Given the description of an element on the screen output the (x, y) to click on. 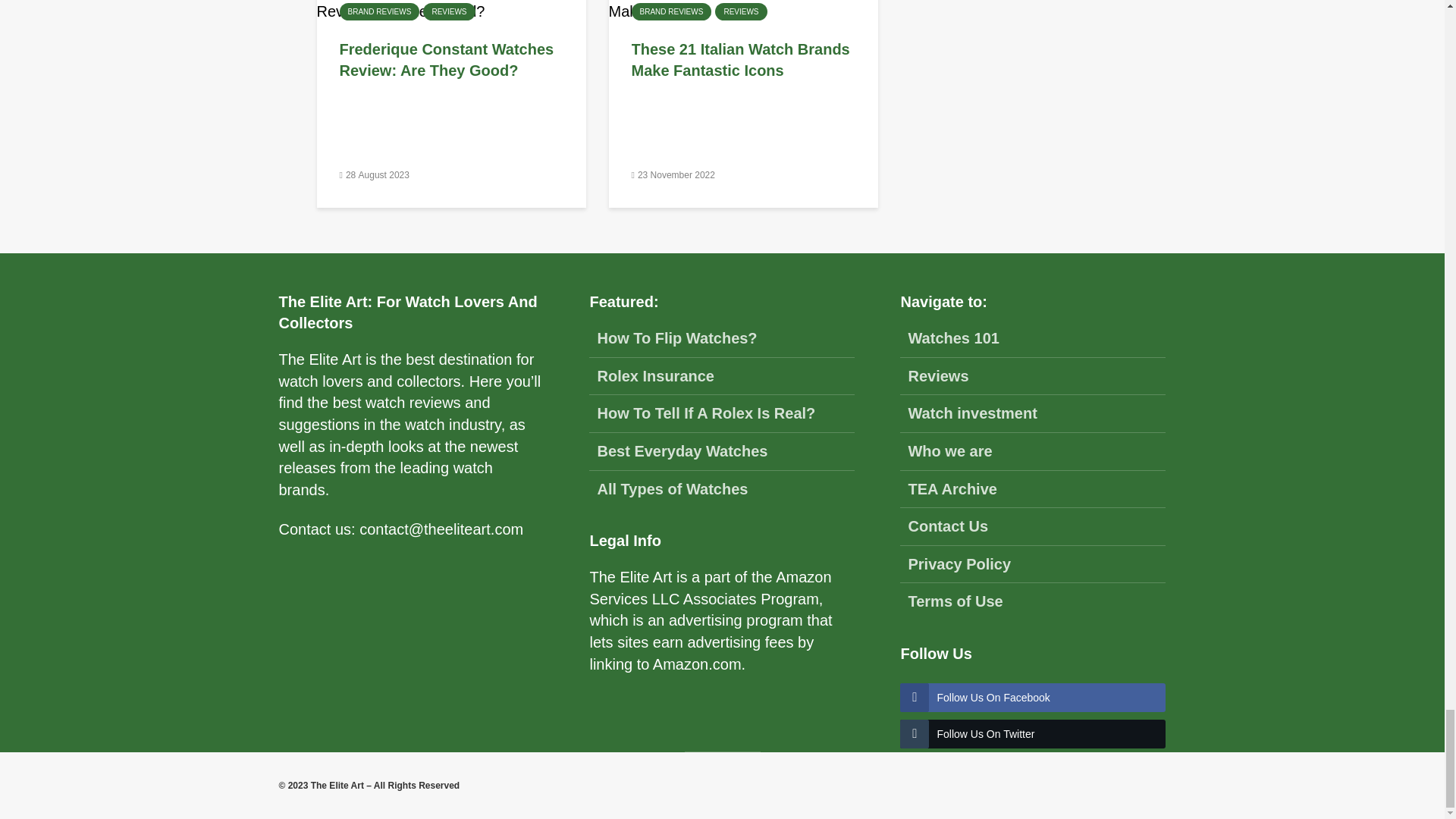
BRAND REVIEWS (670, 11)
REVIEWS (448, 11)
REVIEWS (740, 11)
Frederique Constant Watches Review: Are They Good? (451, 4)
Frederique Constant Watches Review: Are They Good? (451, 60)
These 21 Italian Watch Brands Make Fantastic Icons (742, 60)
BRAND REVIEWS (379, 11)
These 21 Italian Watch Brands Make Fantastic Icons (742, 4)
